Given the description of an element on the screen output the (x, y) to click on. 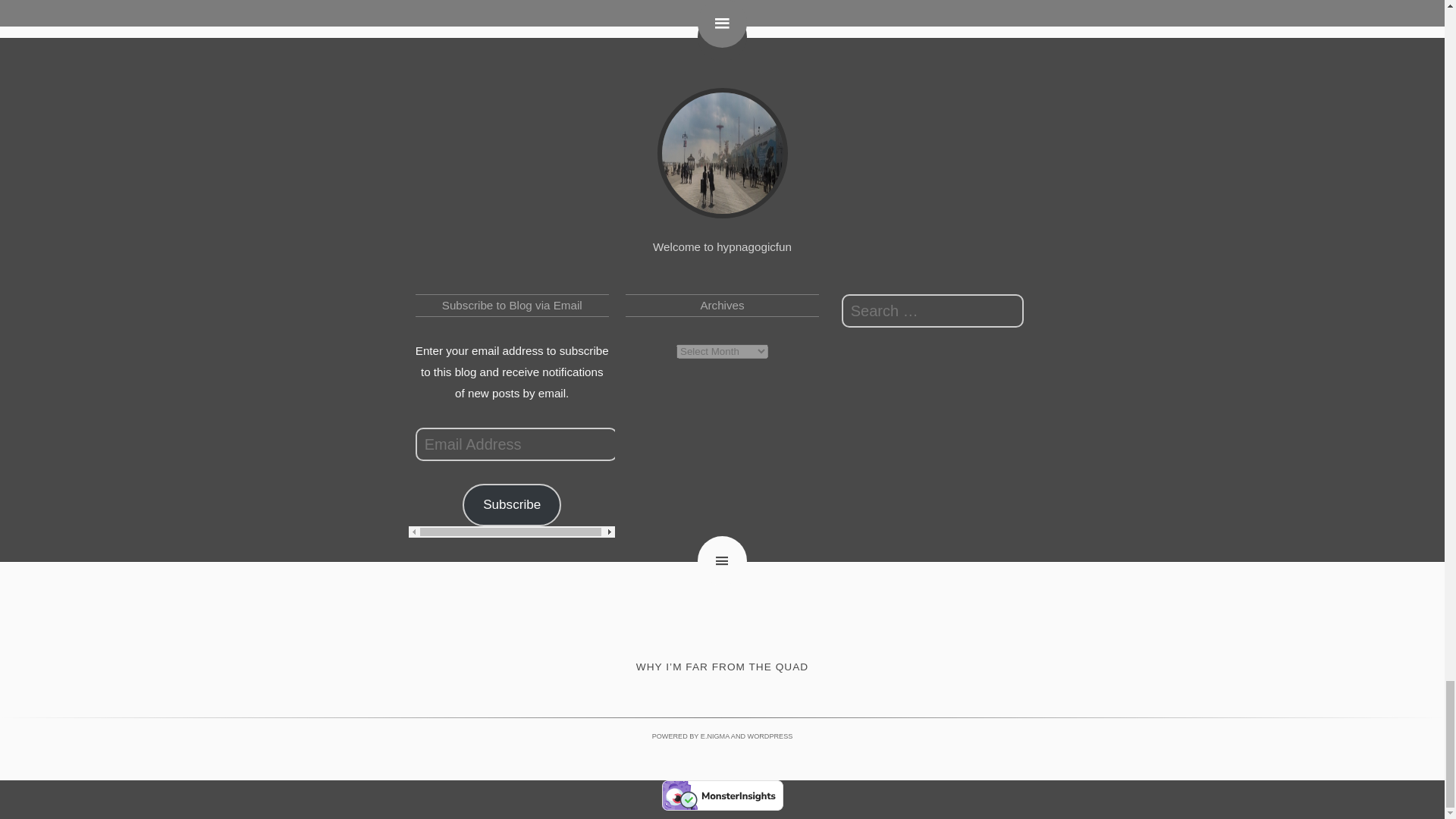
hypnagogicfun (721, 152)
Verified by MonsterInsights (722, 795)
Search for: (932, 310)
